Given the description of an element on the screen output the (x, y) to click on. 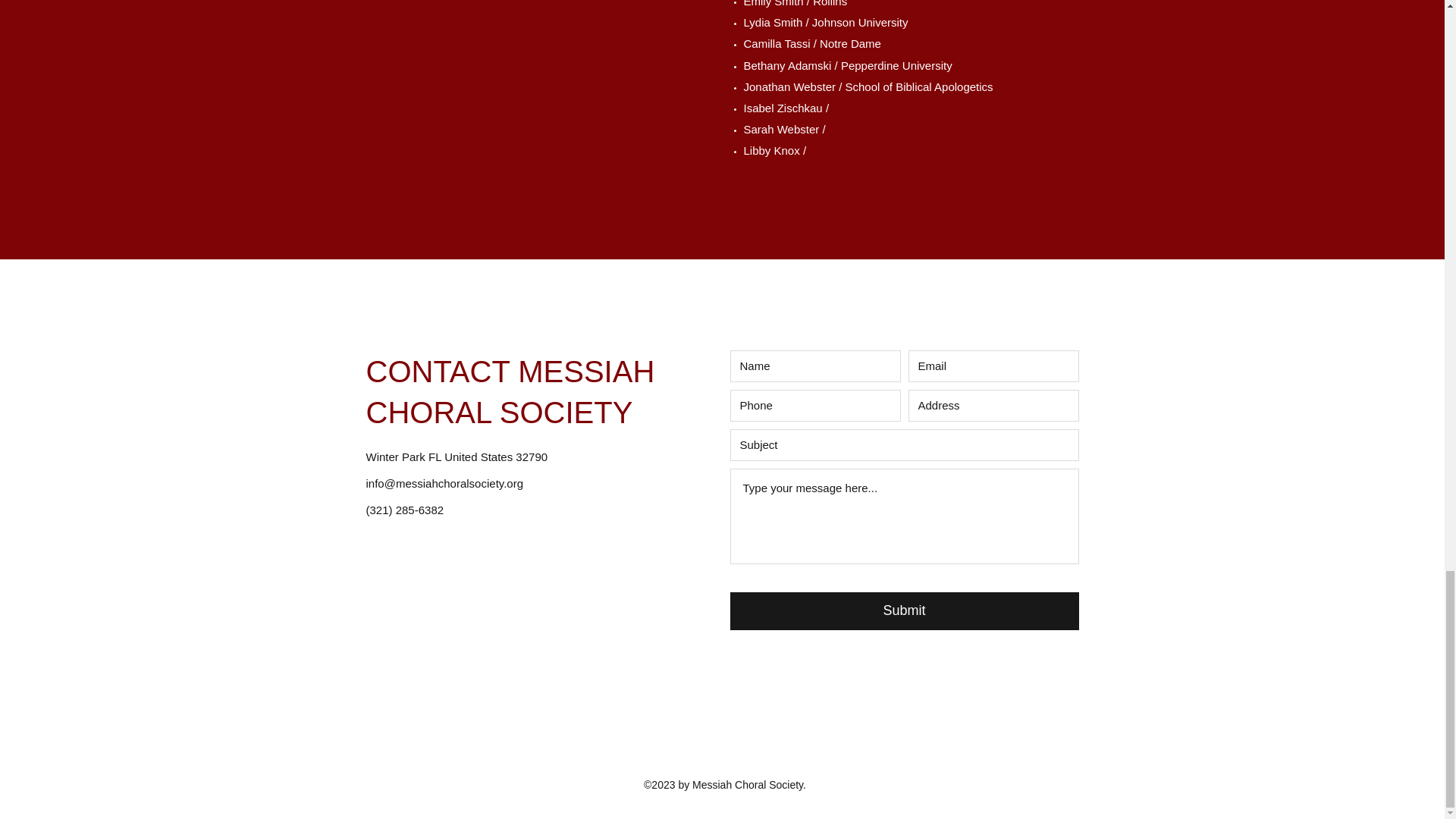
Submit (903, 610)
